Given the description of an element on the screen output the (x, y) to click on. 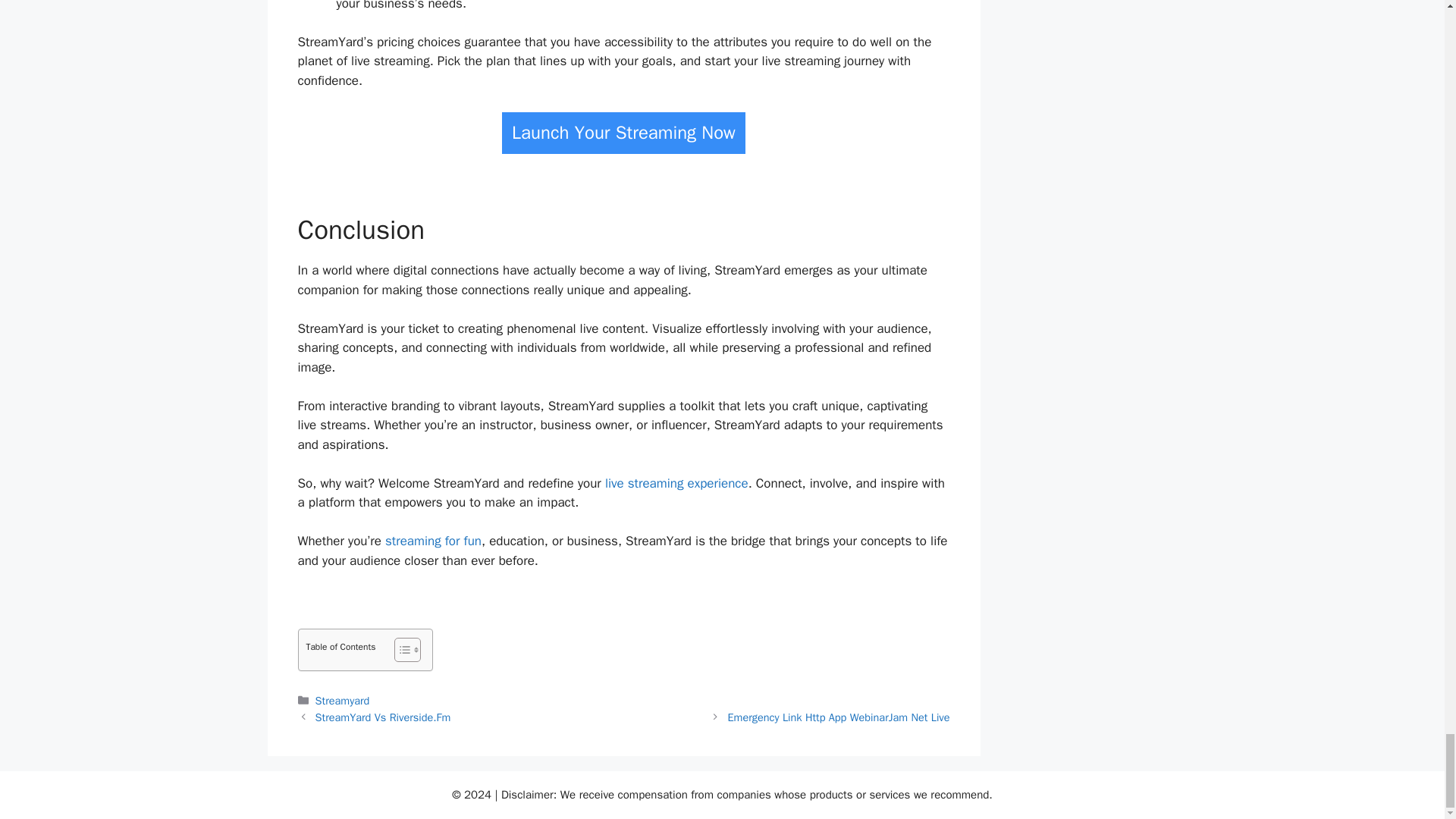
Emergency Link Http App WebinarJam Net Live (839, 716)
Launch Your Streaming Now (623, 132)
streaming for fun (433, 540)
Streamyard (342, 700)
StreamYard Vs Riverside.Fm (383, 716)
live streaming experience (676, 483)
